Given the description of an element on the screen output the (x, y) to click on. 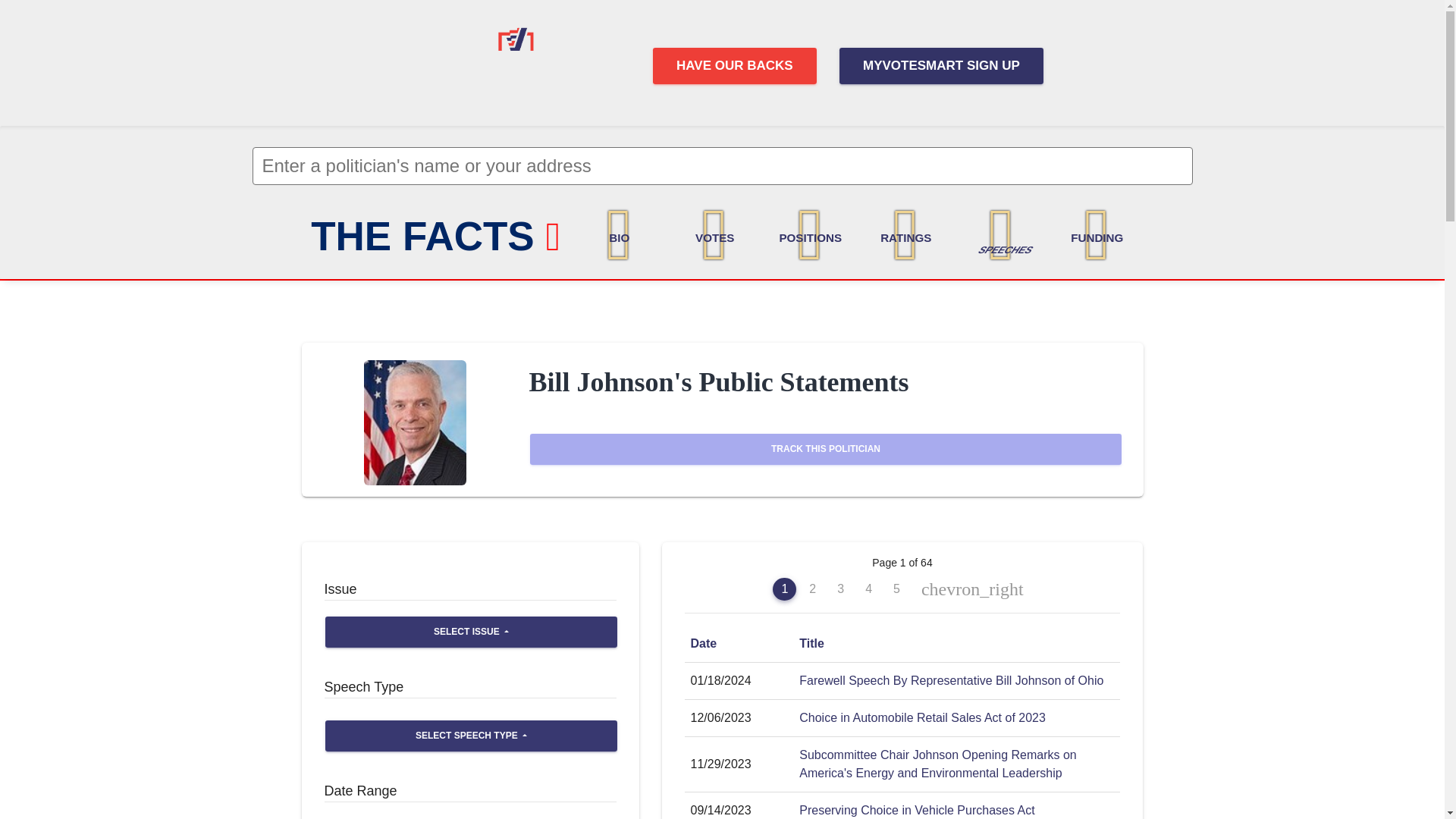
RATINGS (905, 233)
POSITIONS (810, 233)
First, enter a politician's name or your address. (721, 166)
SELECT ISSUE (469, 631)
BIO (619, 233)
TRACK THIS POLITICIAN (825, 449)
HAVE OUR BACKS (734, 65)
VOTES (714, 233)
FUNDING (1097, 233)
